Given the description of an element on the screen output the (x, y) to click on. 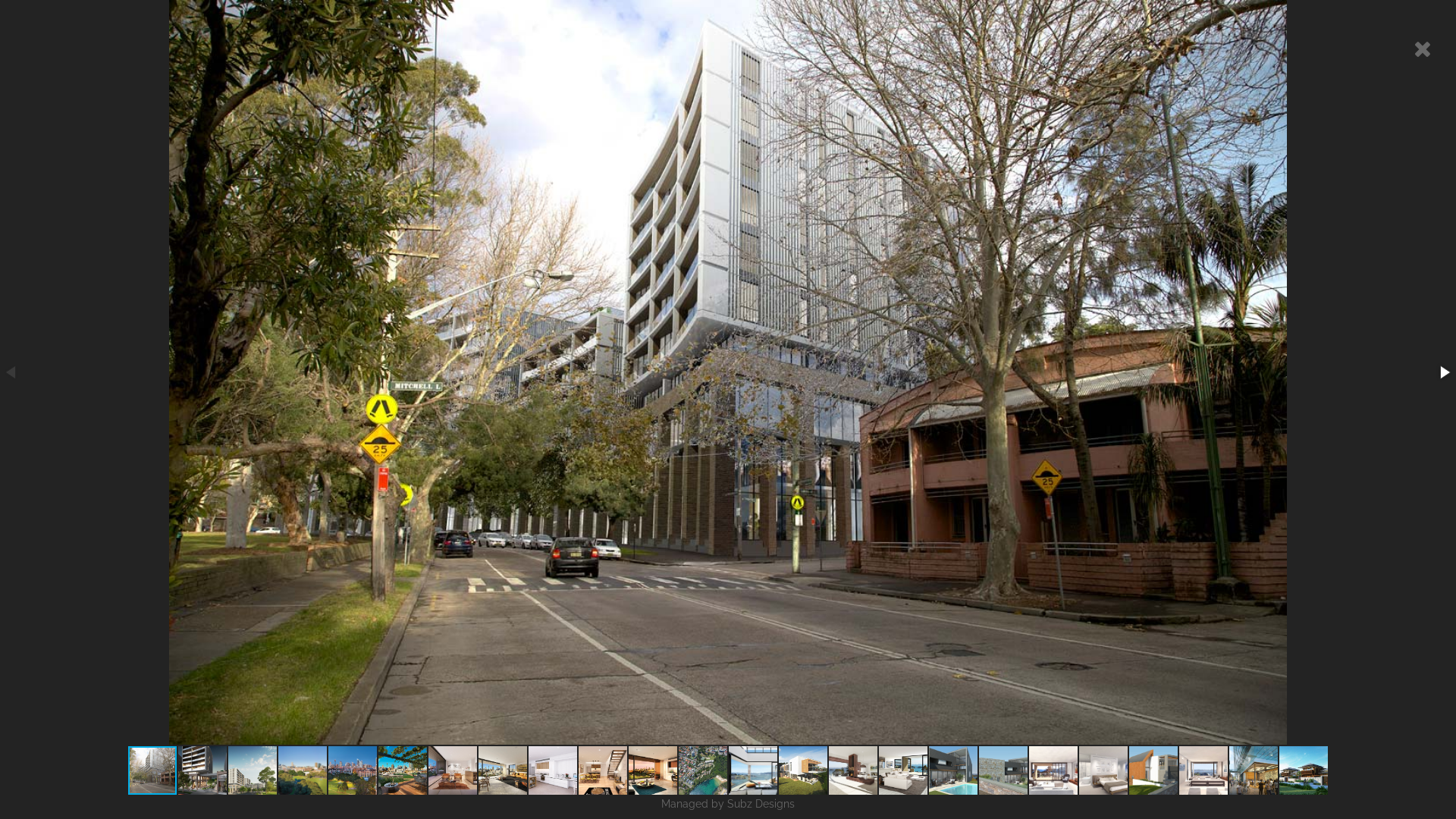
Managed by Subz Designs Element type: text (727, 803)
